Given the description of an element on the screen output the (x, y) to click on. 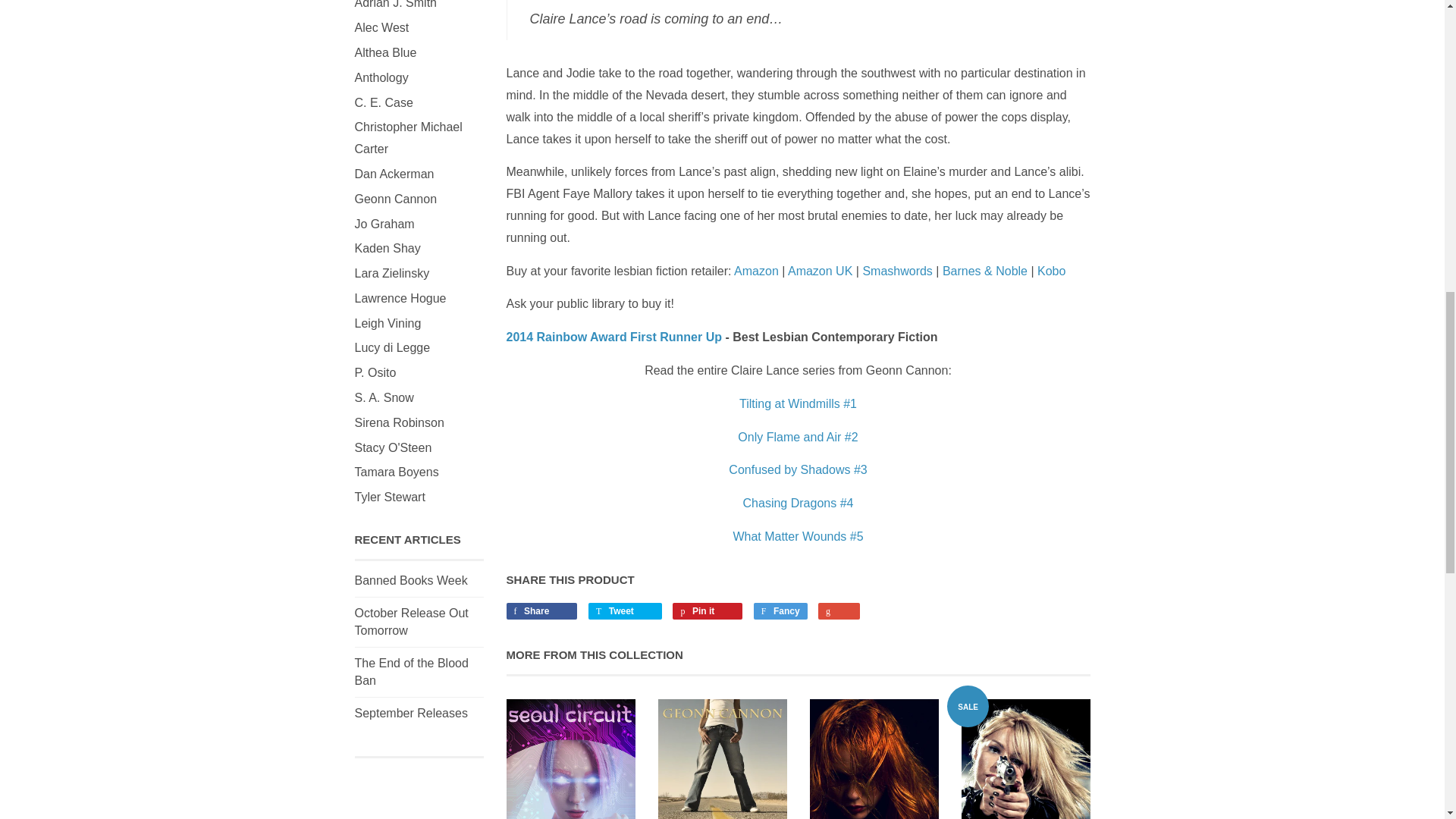
What Matter Wounds by Geonn, Claire Lance Series (1050, 270)
Althea Blue (385, 51)
Adrian J. Smith (395, 4)
Alec West (382, 27)
Chasing Dragons by Geonn Cannon, a Claire Lance series book (797, 502)
Rainbow Awards Won by Geonn Cannon (614, 336)
